Given the description of an element on the screen output the (x, y) to click on. 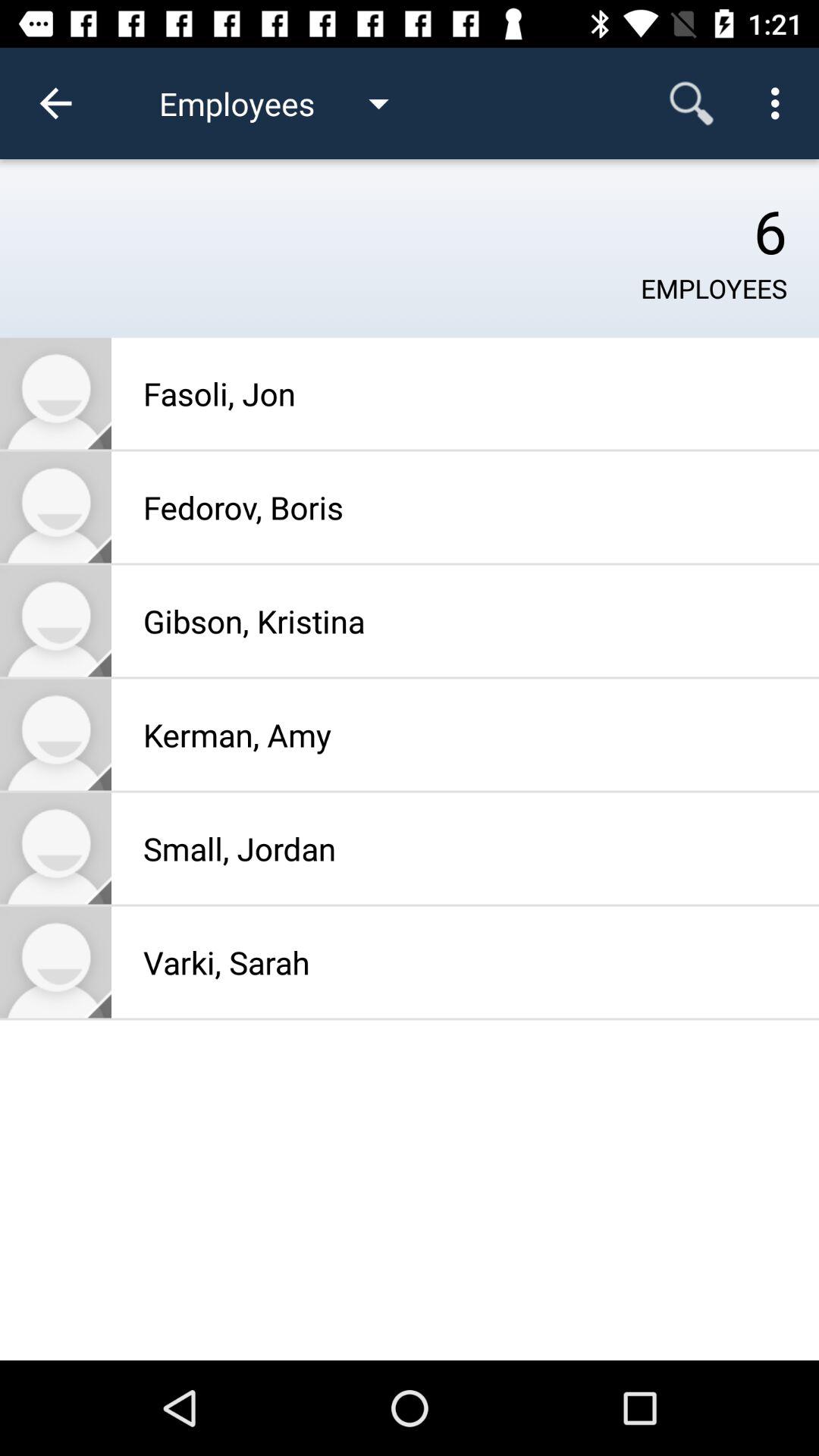
select kerman amy (55, 734)
